Given the description of an element on the screen output the (x, y) to click on. 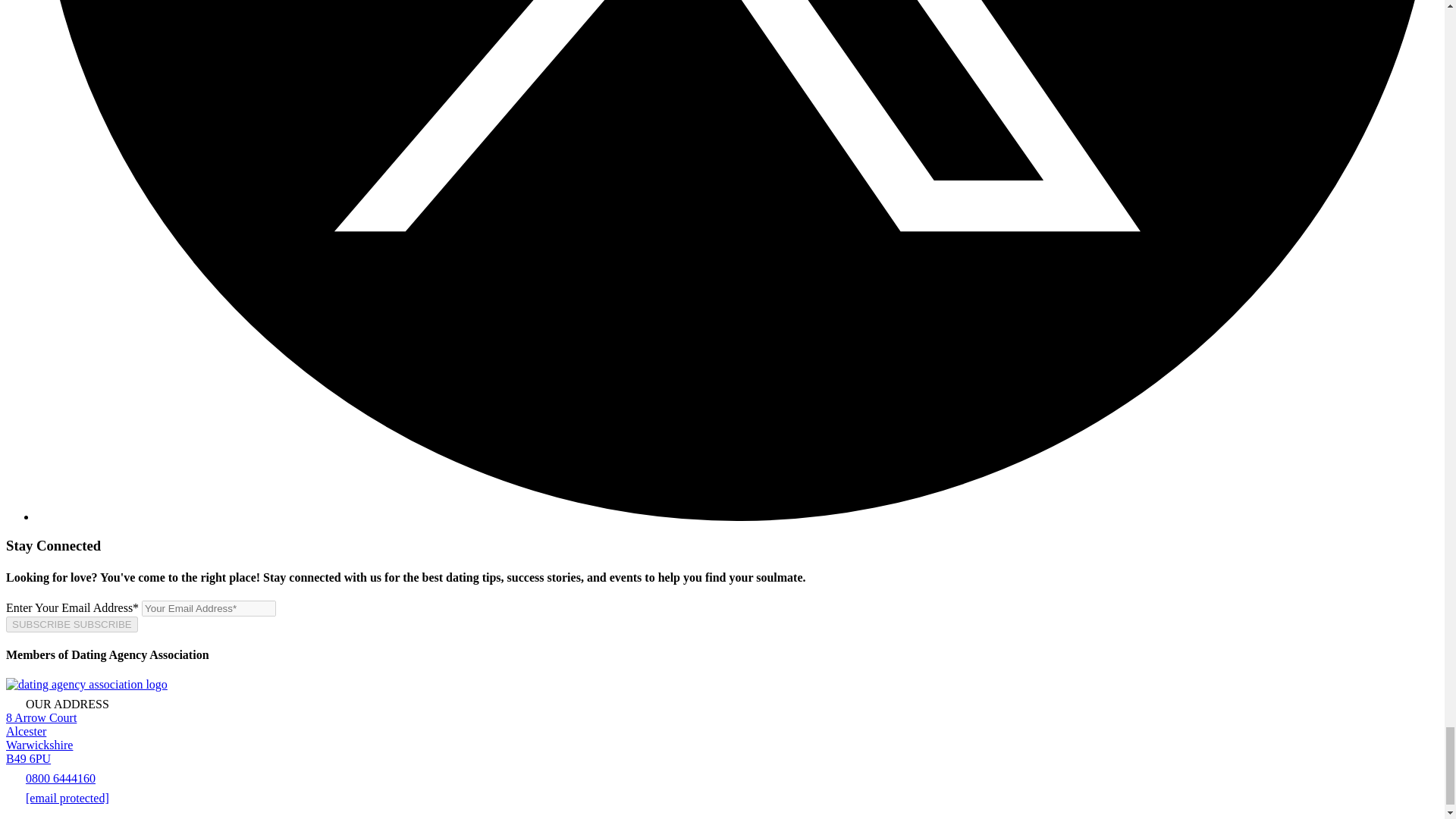
SUBSCRIBE SUBSCRIBE (71, 624)
